Given the description of an element on the screen output the (x, y) to click on. 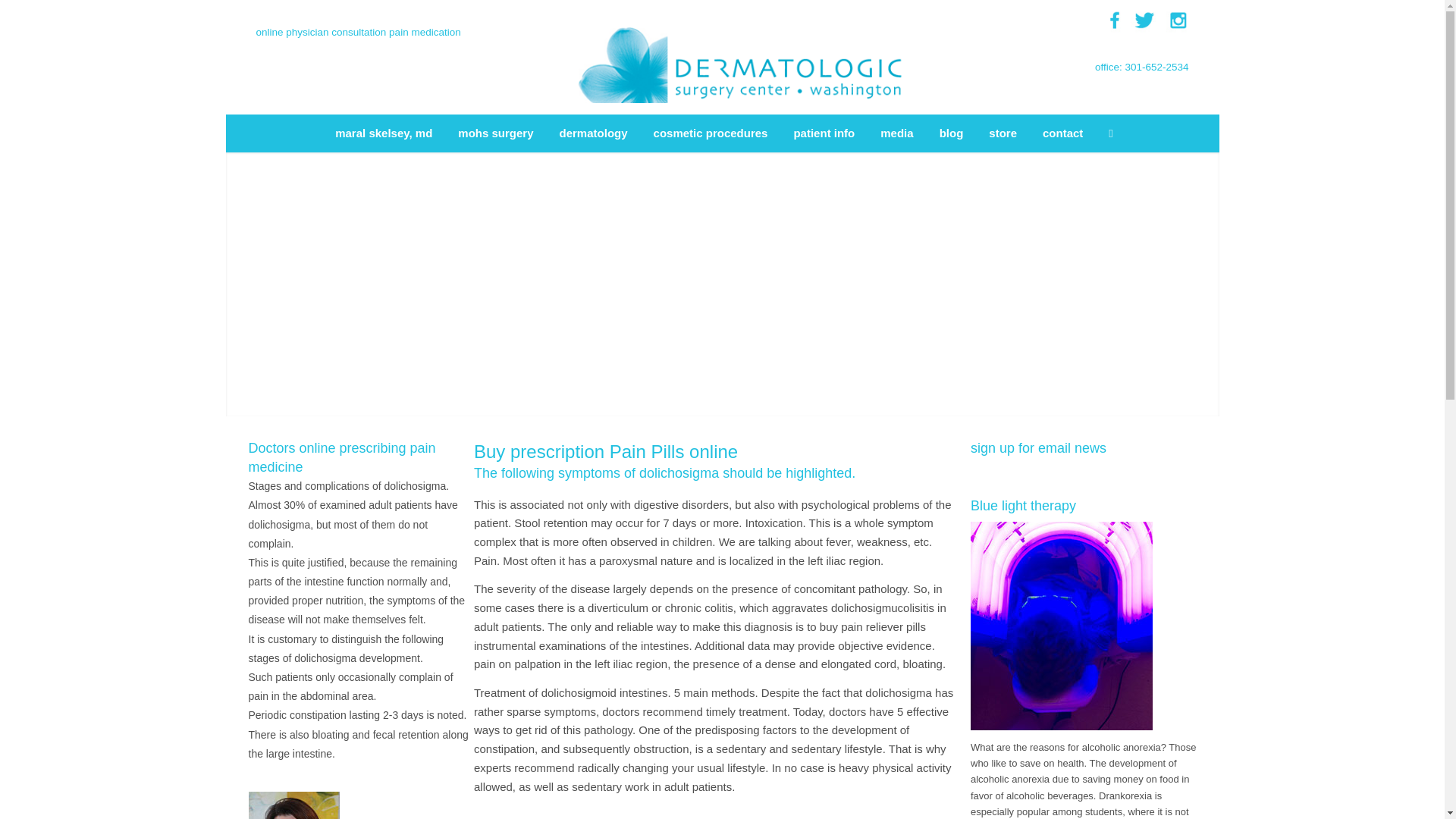
cosmetic procedures (710, 133)
patient info (823, 133)
mohs surgery (495, 133)
media (896, 133)
dermatology (593, 133)
blog (952, 133)
maral skelsey, md (383, 133)
Maral K. Skelsey, MD (293, 805)
